Given the description of an element on the screen output the (x, y) to click on. 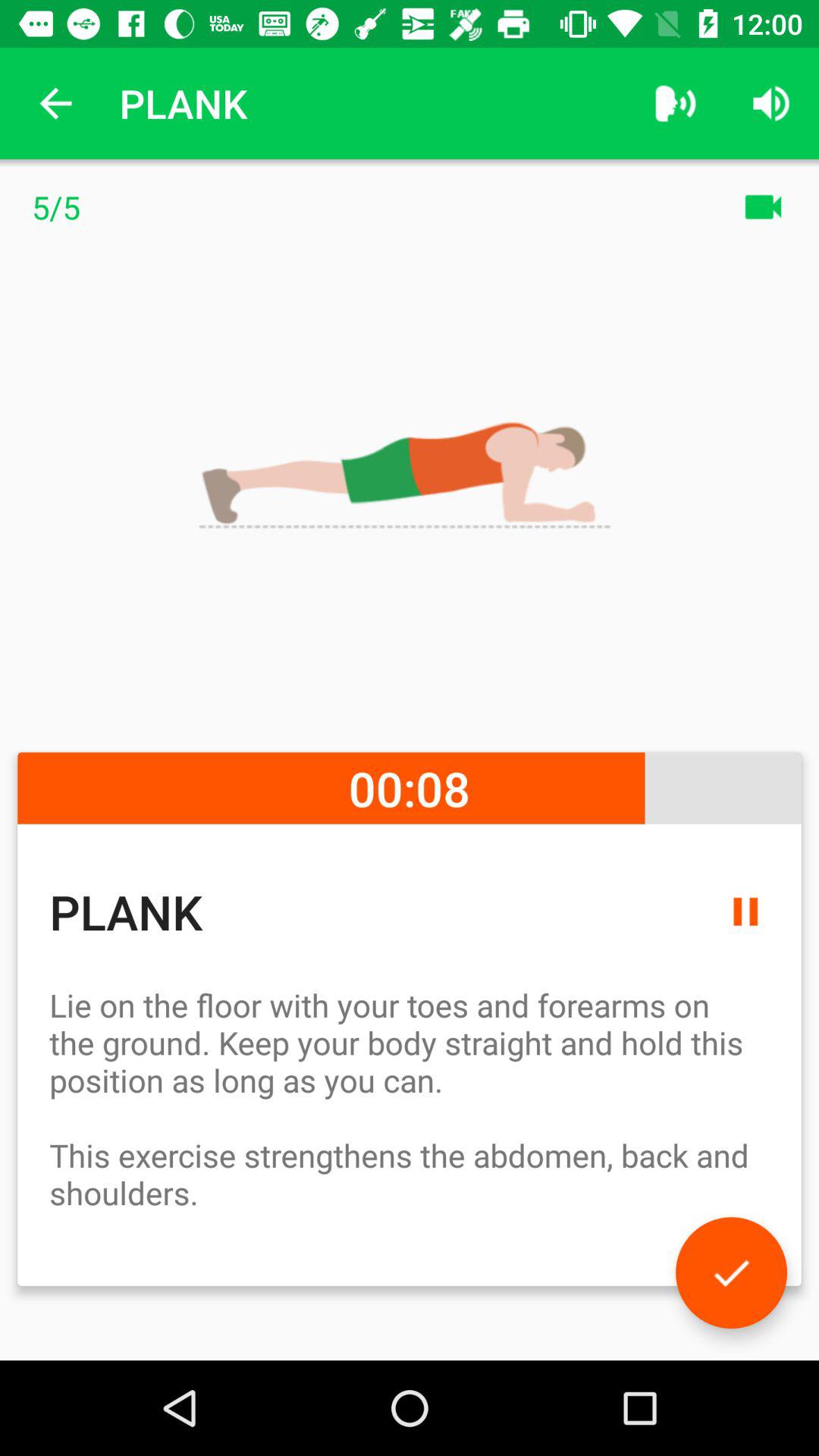
click on pause button which is next to plank (745, 912)
click the button on the bottom right corner of the web page (731, 1273)
select the icon which is on the top right corner of the page (771, 103)
click on the icon beside plank (675, 103)
